Given the description of an element on the screen output the (x, y) to click on. 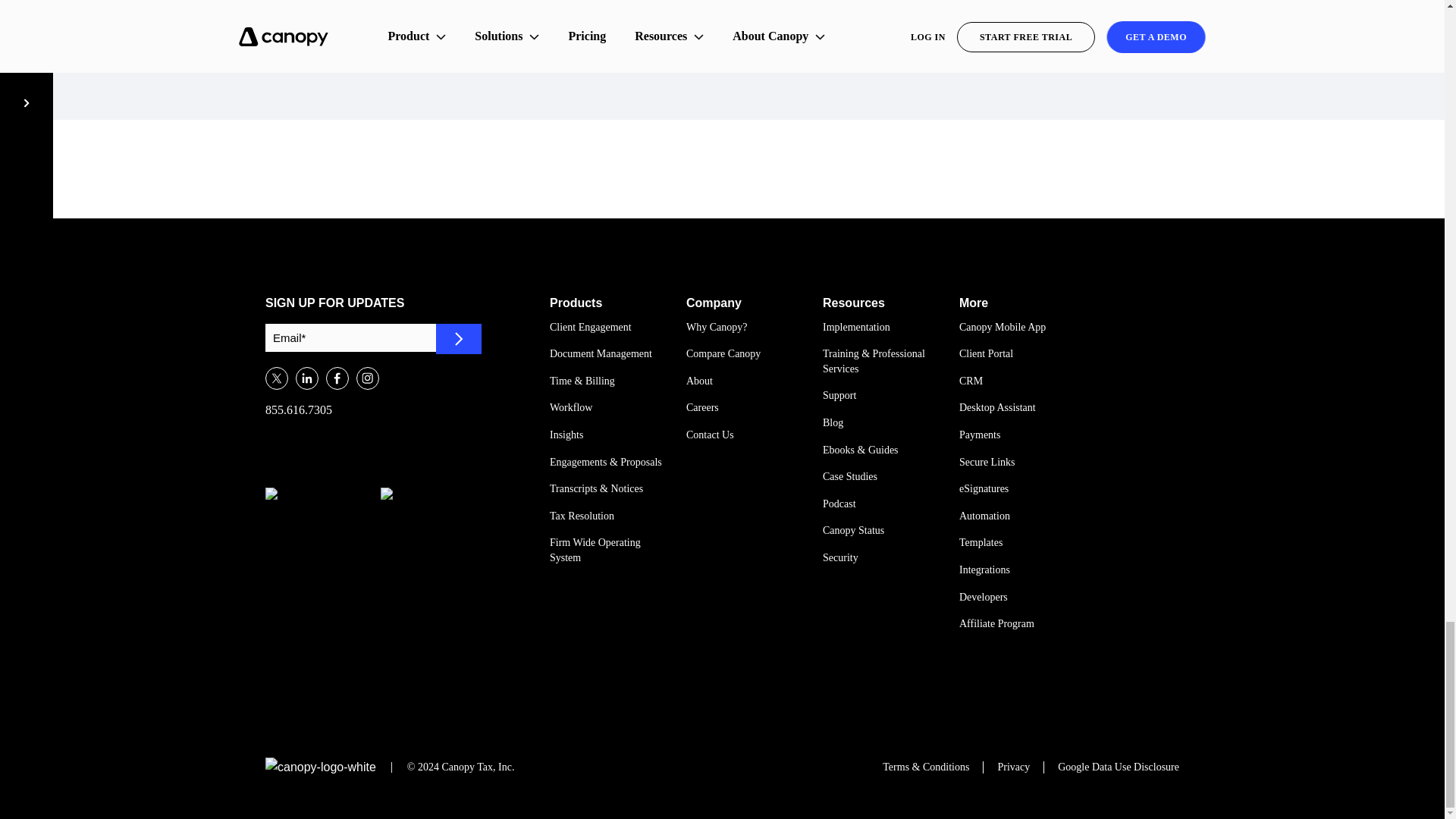
Submit Comment (748, 24)
Subscribe (458, 338)
